Given the description of an element on the screen output the (x, y) to click on. 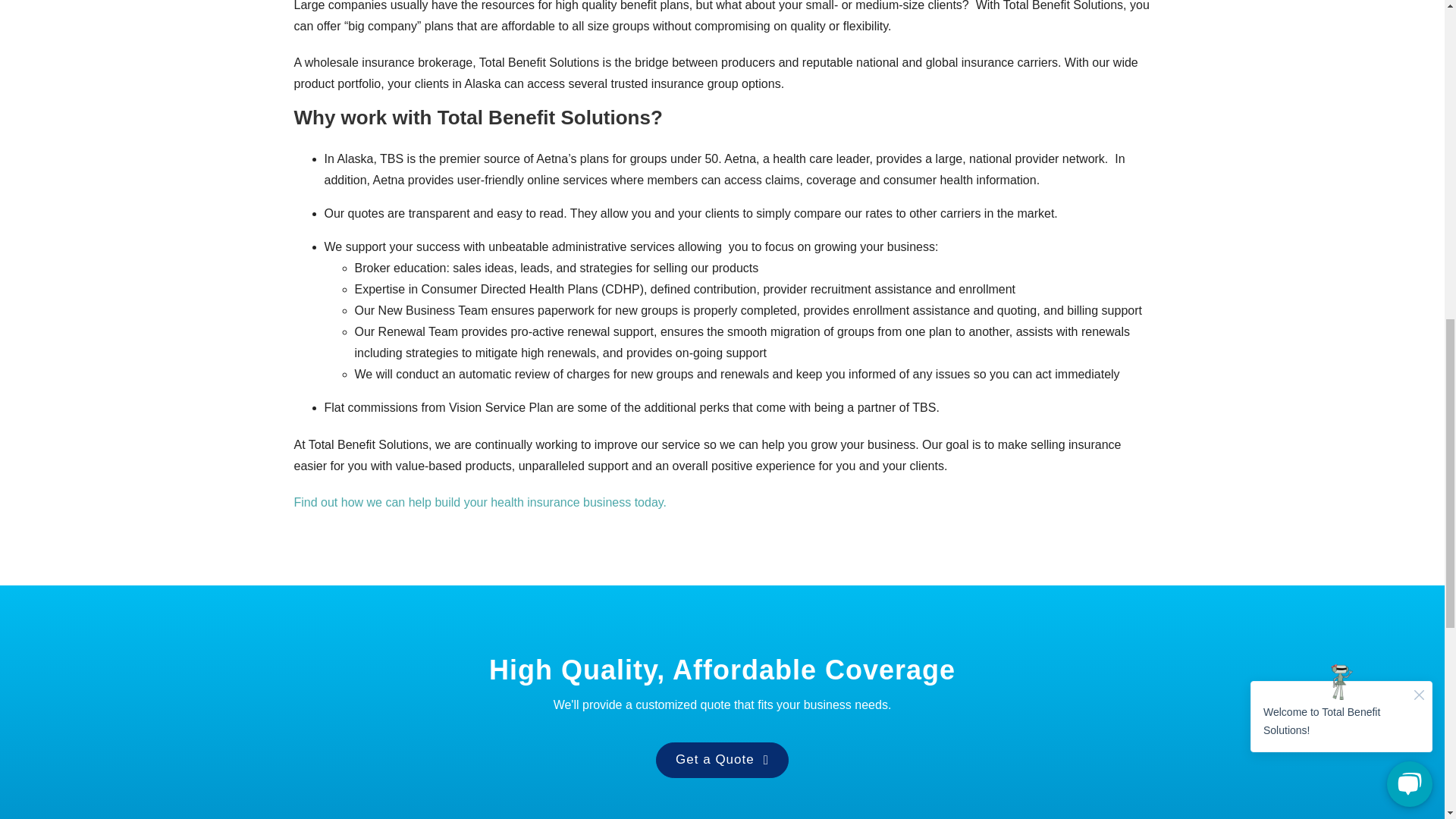
Contact us (480, 502)
Get a Quote (722, 760)
